Given the description of an element on the screen output the (x, y) to click on. 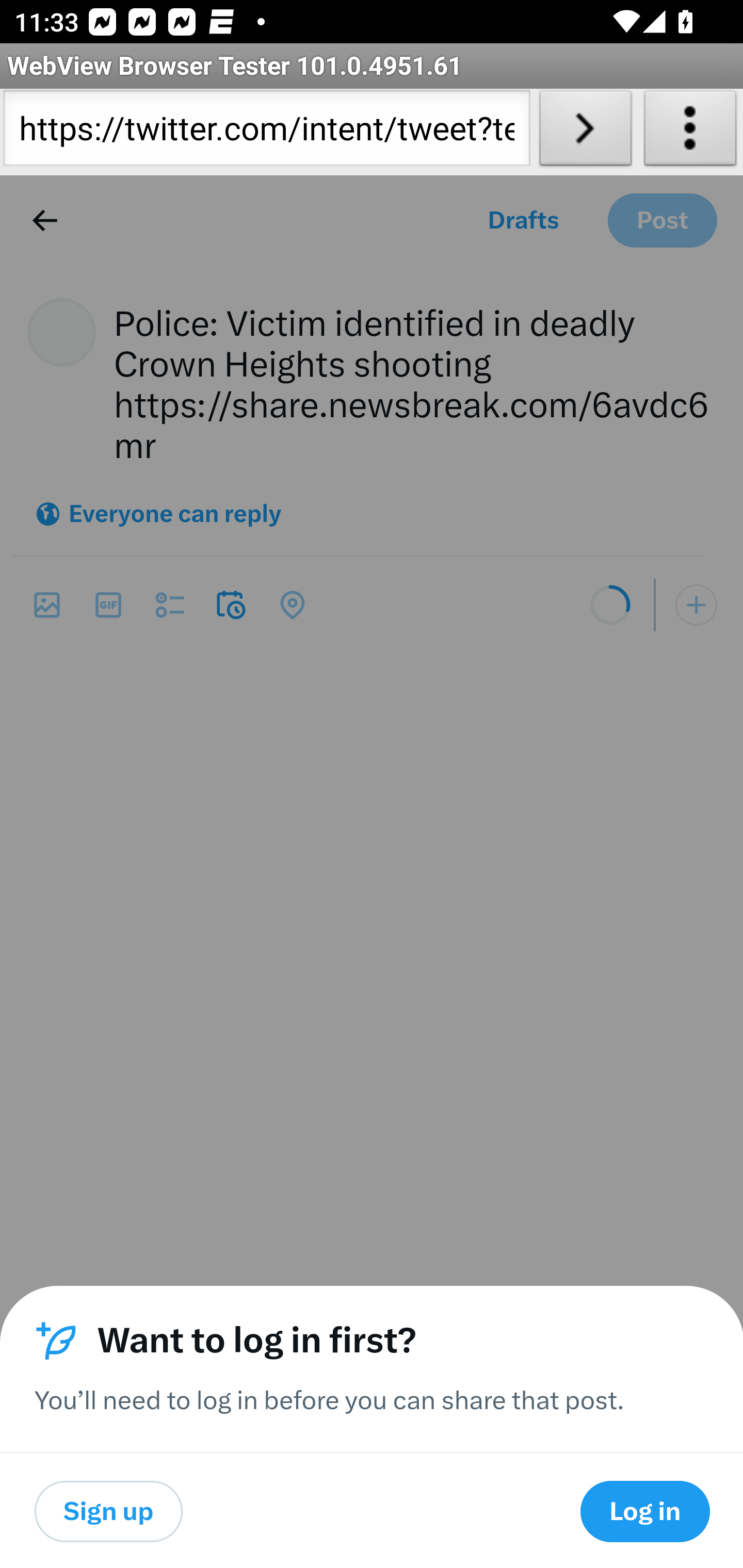
Load URL (585, 132)
About WebView (690, 132)
